Given the description of an element on the screen output the (x, y) to click on. 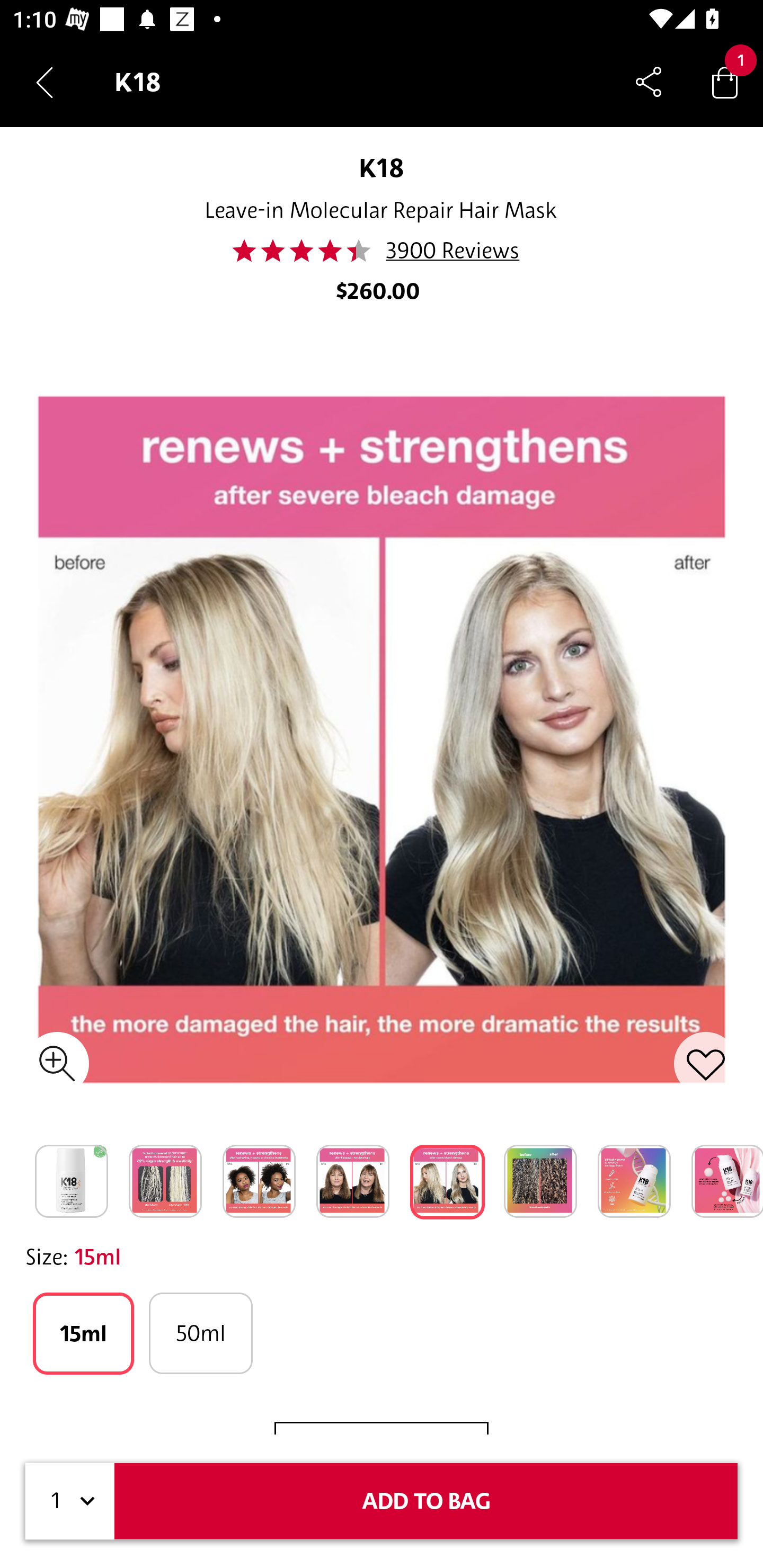
Navigate up (44, 82)
Share (648, 81)
Bag (724, 81)
K18 (381, 167)
44.0 3900 Reviews (380, 250)
15ml (83, 1333)
50ml (200, 1332)
1 (69, 1500)
ADD TO BAG (425, 1500)
